Given the description of an element on the screen output the (x, y) to click on. 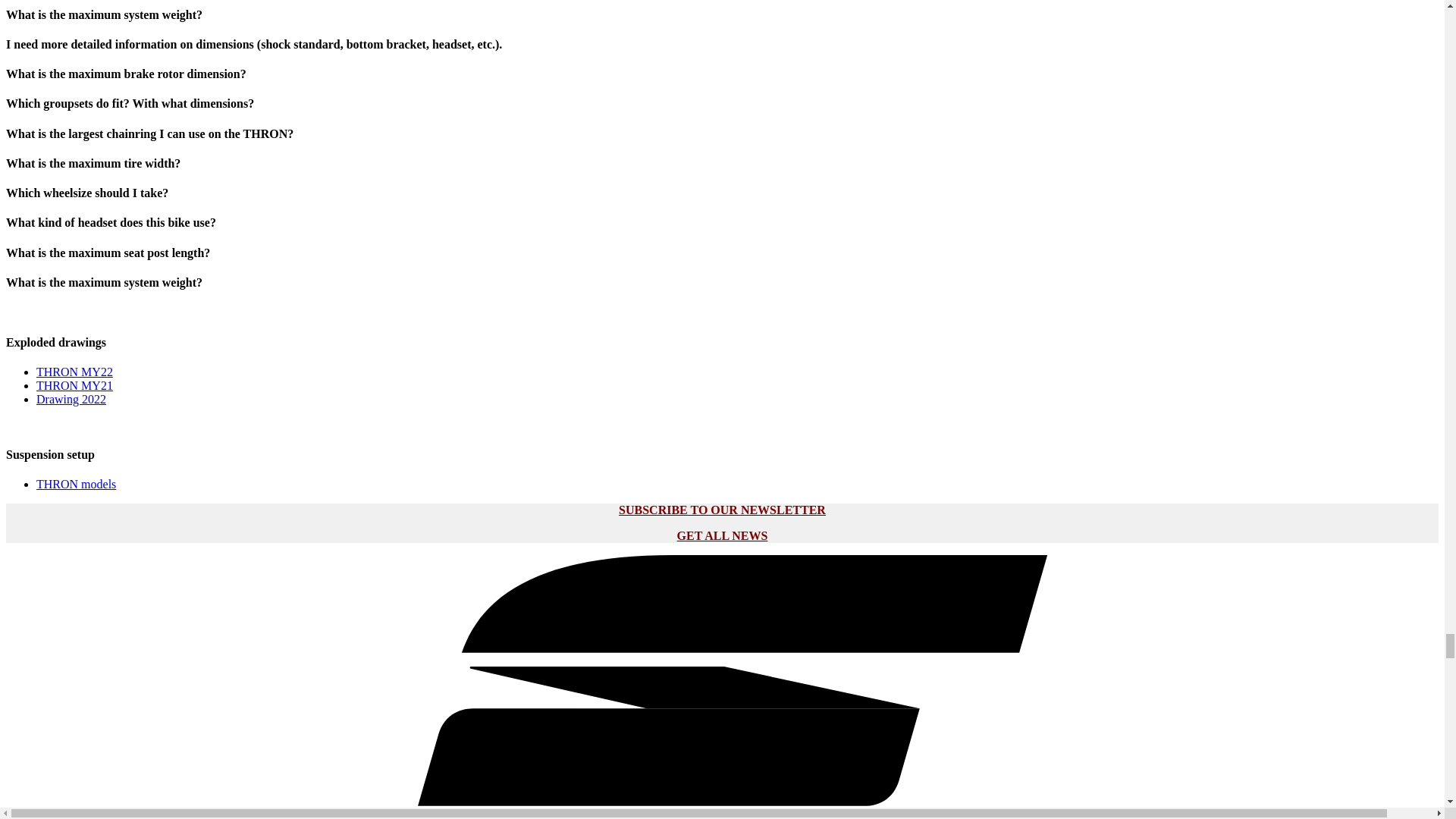
THRON MY22 (74, 371)
Drawing 2022 (71, 399)
GET ALL NEWS (722, 535)
THRON models (76, 483)
THRON MY21 (74, 385)
SUBSCRIBE TO OUR NEWSLETTER (721, 509)
